Given the description of an element on the screen output the (x, y) to click on. 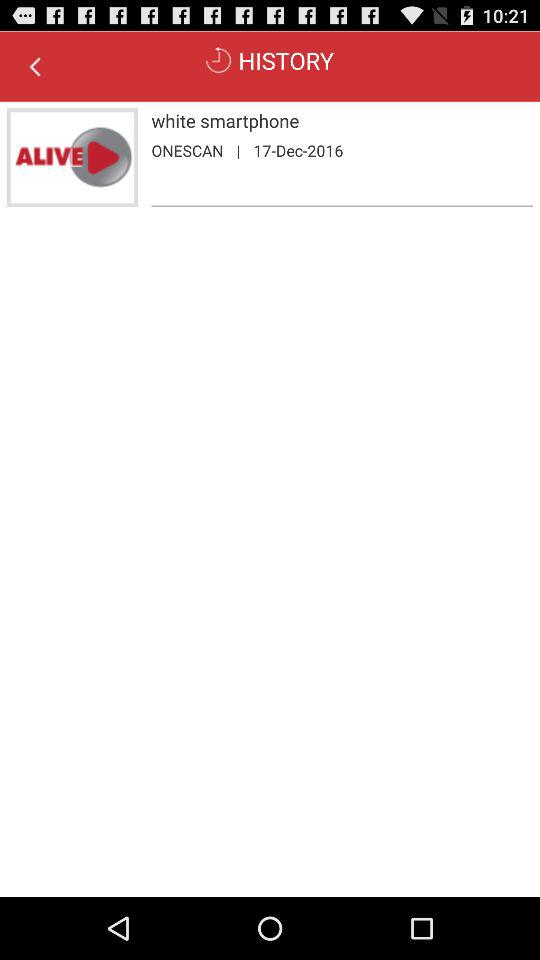
press the icon above onescan (342, 120)
